Given the description of an element on the screen output the (x, y) to click on. 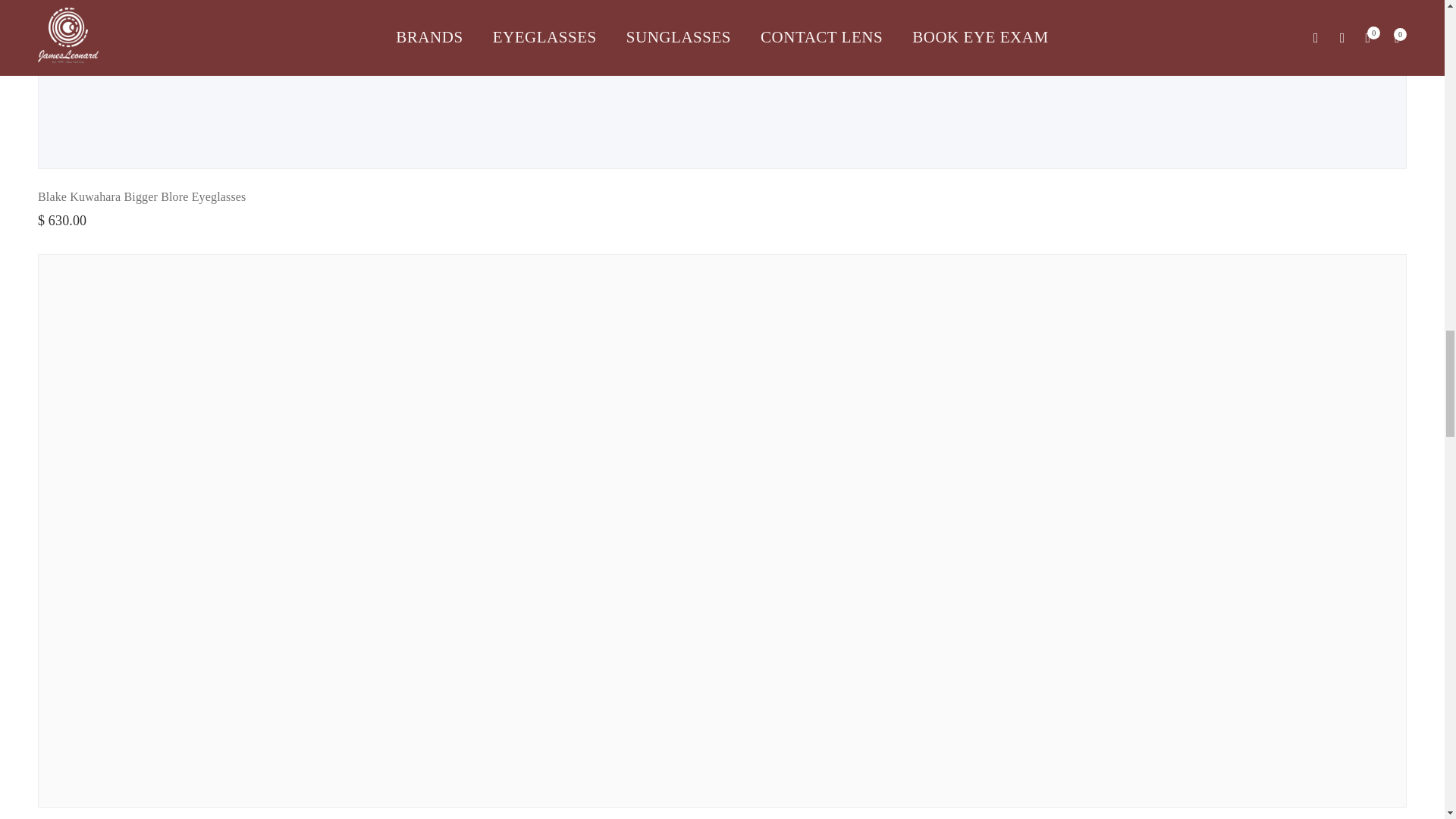
Blake Kuwahara Bigger Blore Eyeglasses (141, 196)
Blake Kuwahara Bigger Blore Eyeglasses (141, 196)
